Given the description of an element on the screen output the (x, y) to click on. 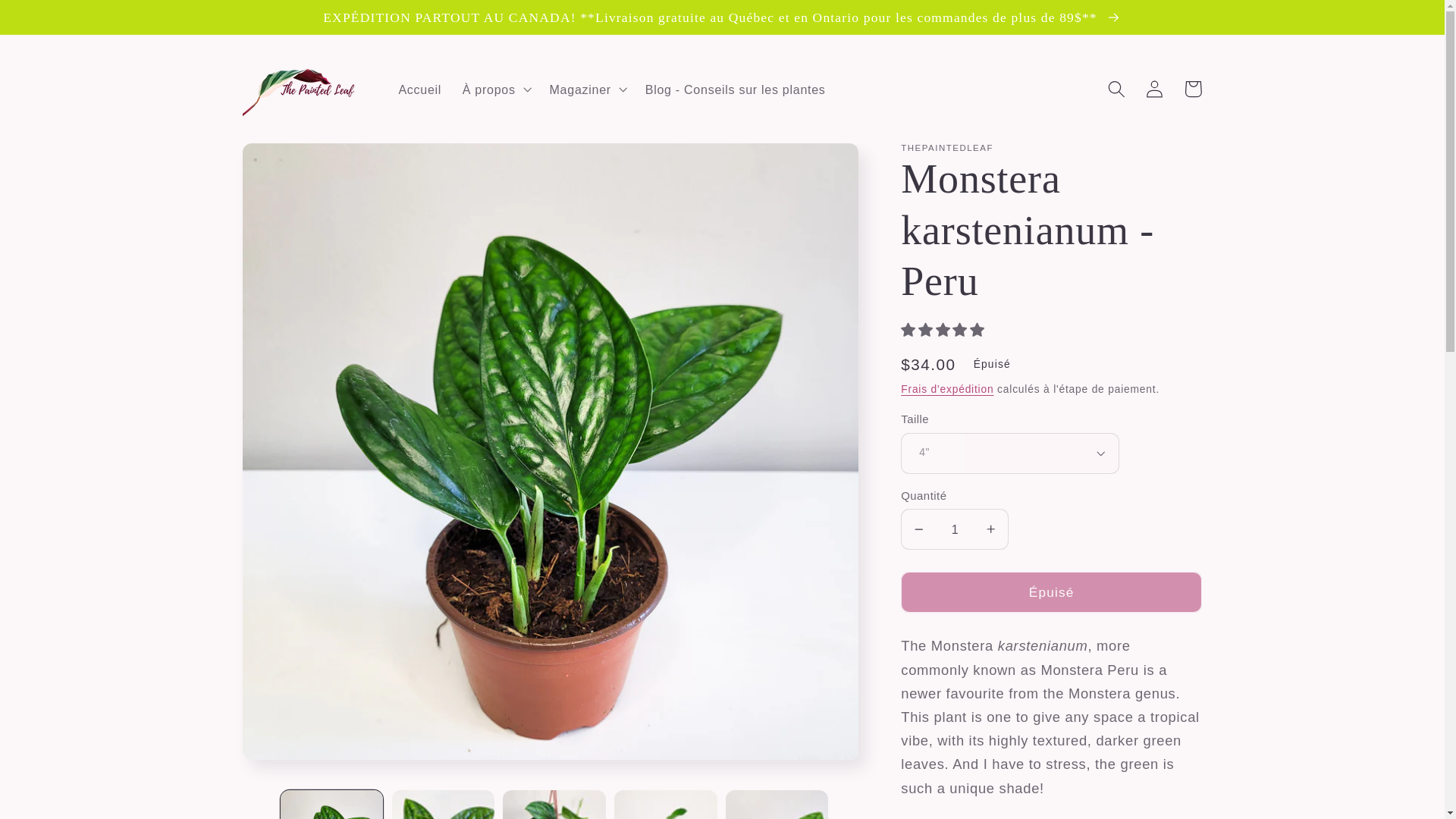
Connexion (1154, 88)
1 (955, 528)
Panier (1192, 88)
Blog - Conseils sur les plantes (734, 89)
Ignorer et passer au contenu (52, 20)
Accueil (419, 89)
